Given the description of an element on the screen output the (x, y) to click on. 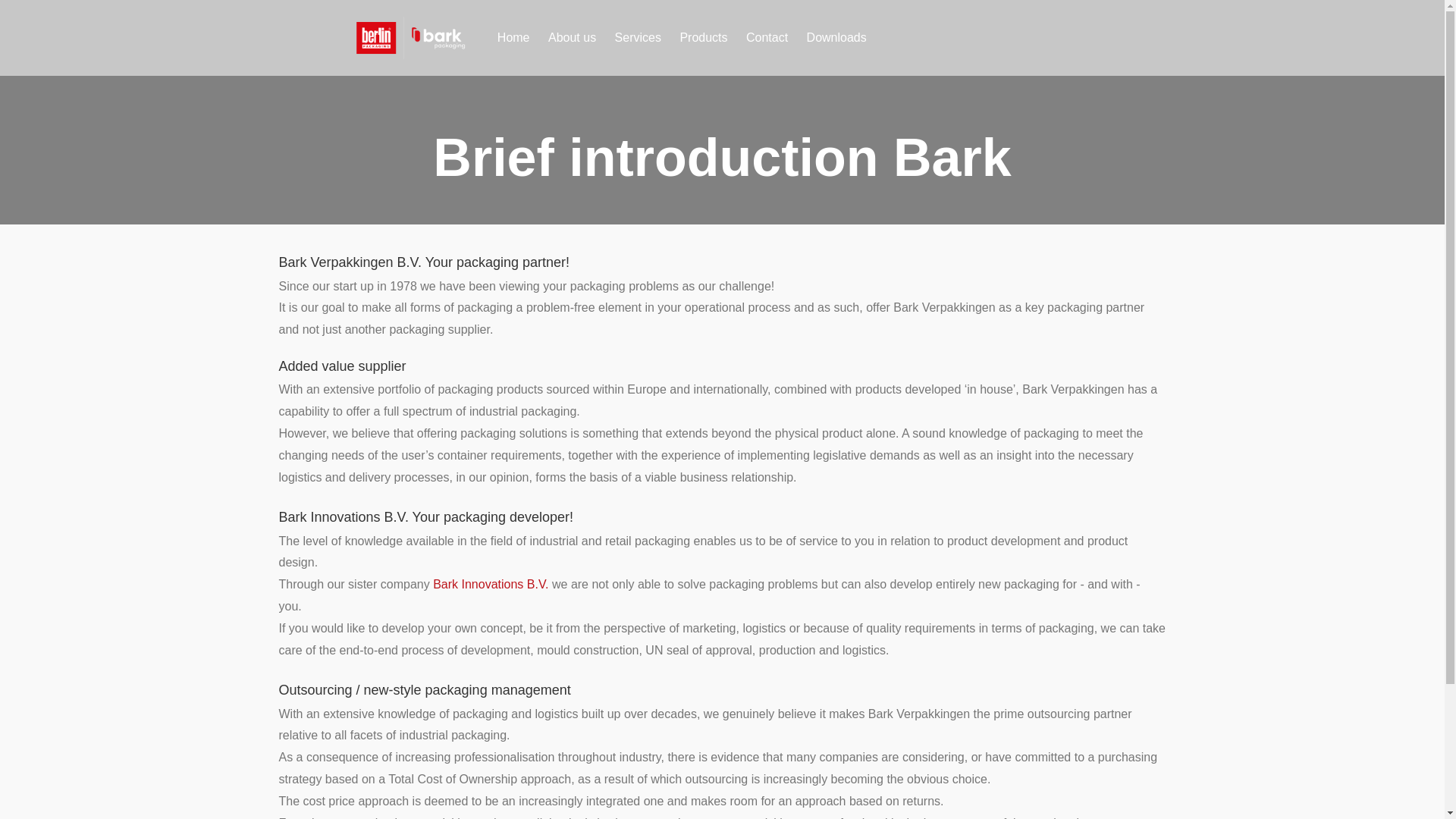
About us (572, 37)
Downloads (837, 37)
Products (703, 37)
Home (513, 37)
Contact (766, 37)
Bark Innovations B.V. (490, 584)
Services (637, 37)
